Given the description of an element on the screen output the (x, y) to click on. 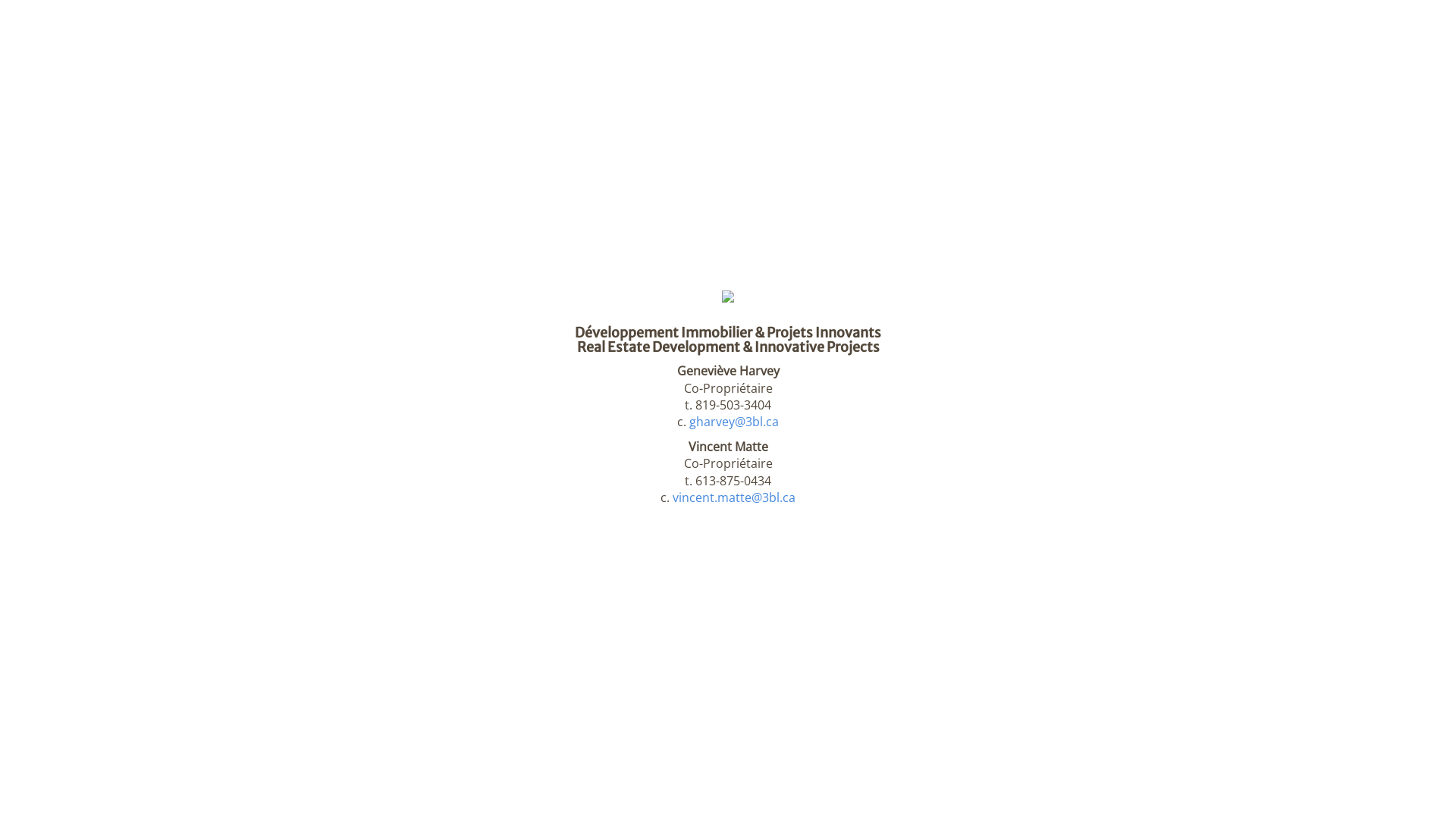
gharvey@3bl.ca Element type: text (733, 421)
vincent.matte@3bl.ca Element type: text (733, 497)
